Given the description of an element on the screen output the (x, y) to click on. 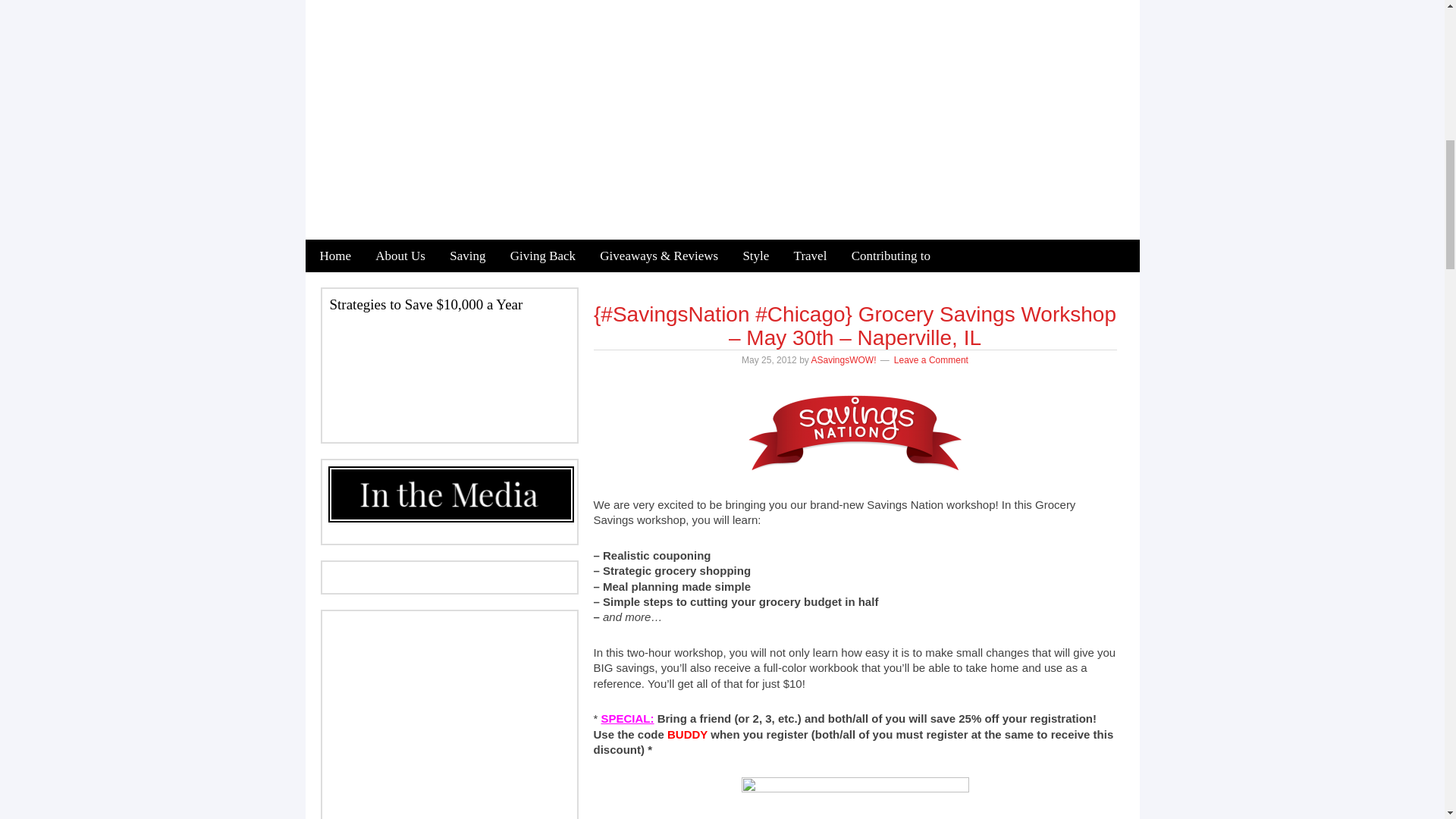
Savings Nation Ribbon (855, 430)
Savings Nation (855, 798)
